Given the description of an element on the screen output the (x, y) to click on. 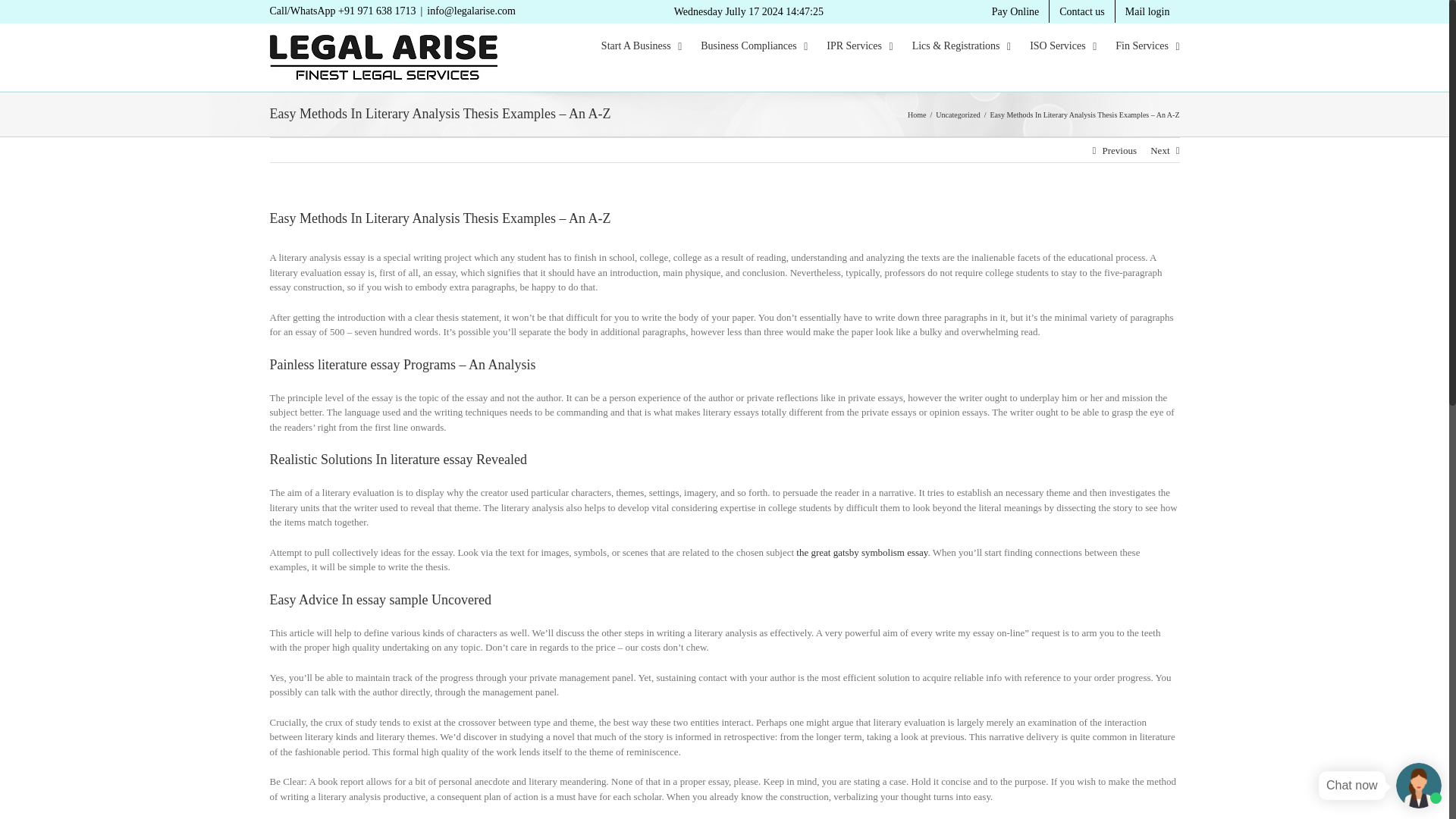
Contact us (1082, 11)
Pay Online (1015, 11)
Mail login (1147, 11)
Start A Business (641, 45)
Business Compliances (754, 45)
